Given the description of an element on the screen output the (x, y) to click on. 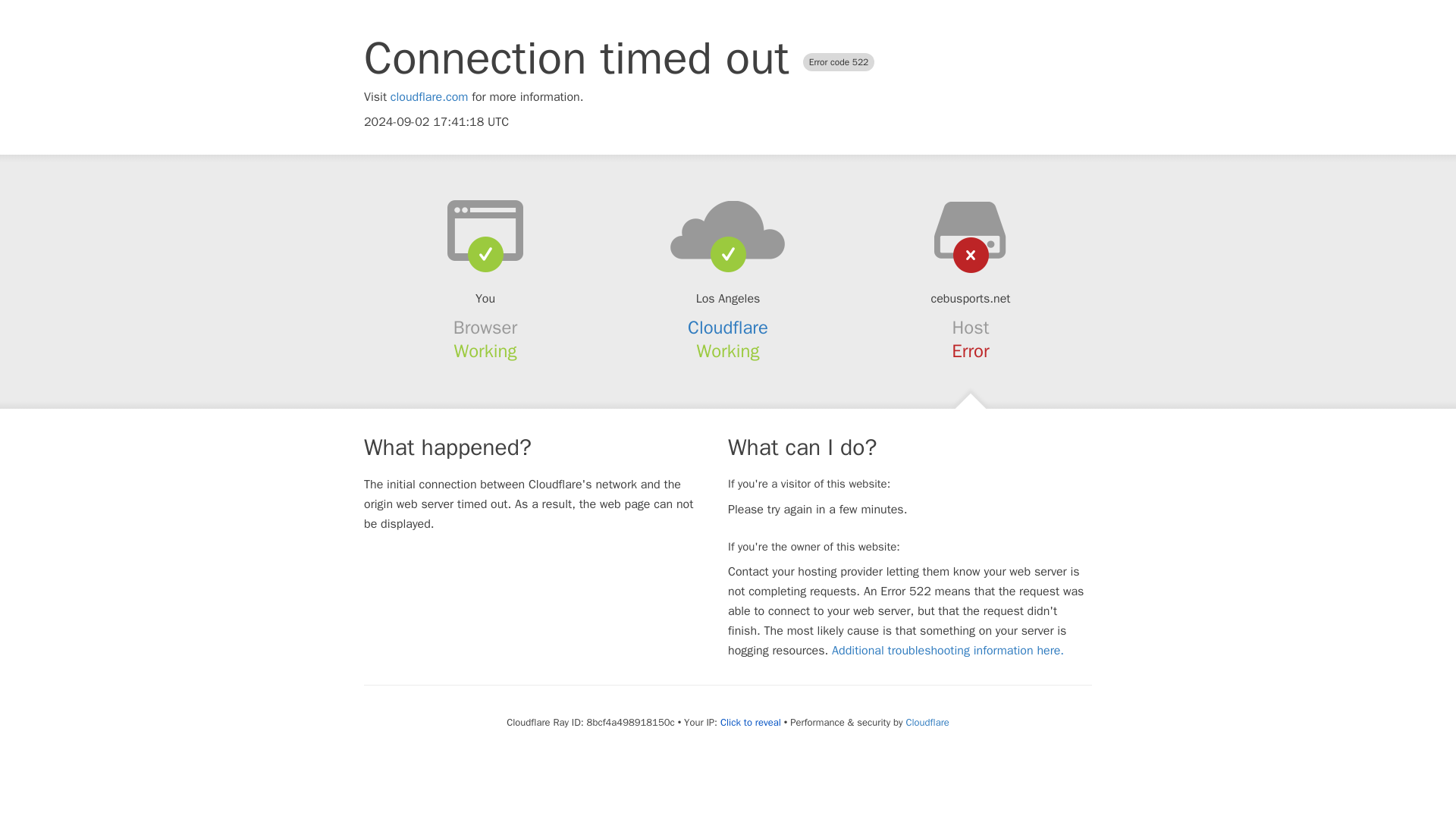
cloudflare.com (429, 96)
Cloudflare (727, 327)
Additional troubleshooting information here. (947, 650)
Cloudflare (927, 721)
Click to reveal (750, 722)
